Given the description of an element on the screen output the (x, y) to click on. 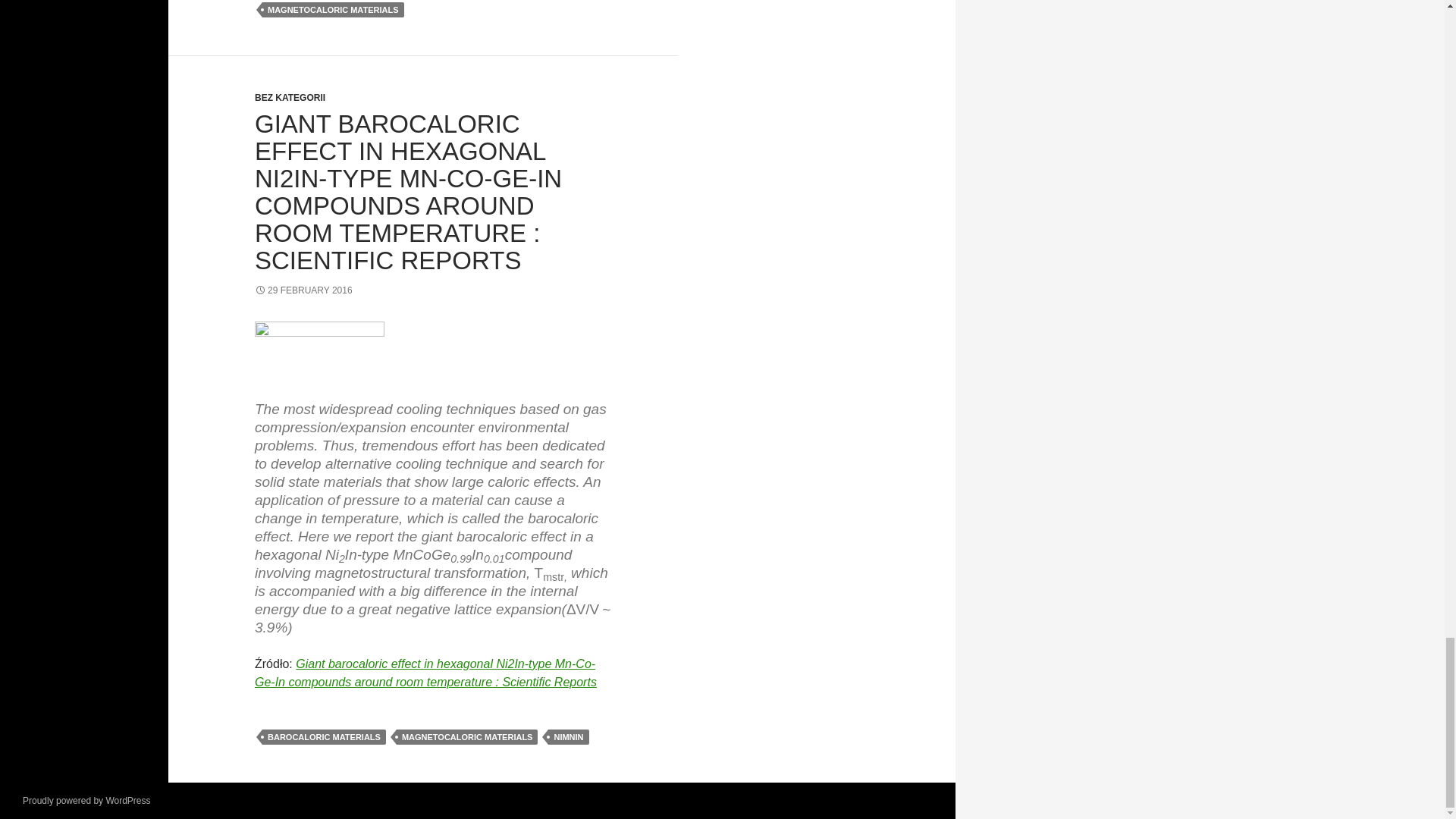
BEZ KATEGORII (289, 97)
MAGNETOCALORIC MATERIALS (333, 9)
